Given the description of an element on the screen output the (x, y) to click on. 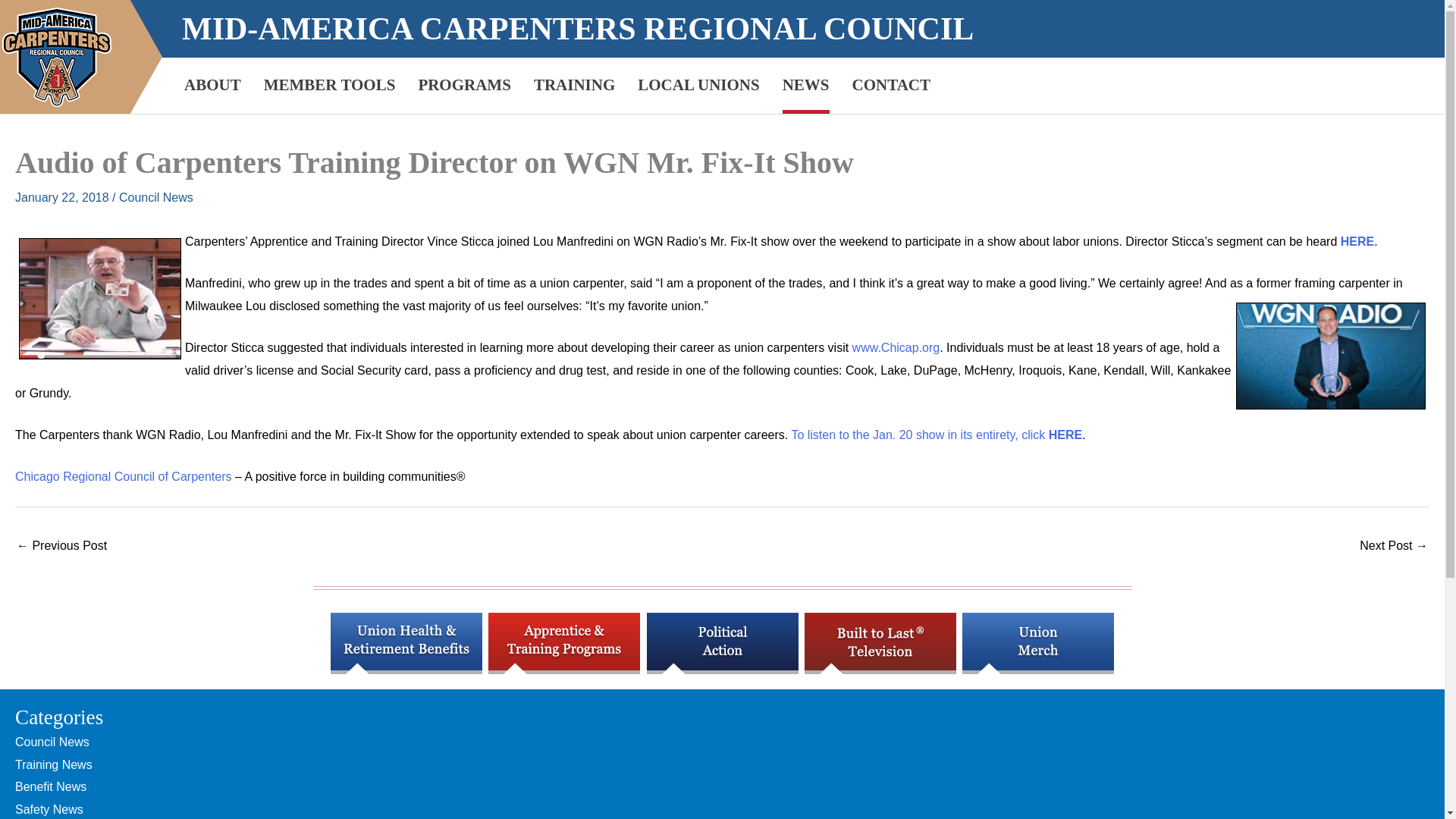
ABOUT (212, 85)
Carpenters Training Director on WGN AM-720 Sat., Jan. 20 (61, 547)
MID-AMERICA CARPENTERS REGIONAL COUNCIL (578, 28)
Martin Luther King Jr. on Right to Work, 1961 (1393, 547)
MEMBER TOOLS (329, 85)
PROGRAMS (464, 85)
